Given the description of an element on the screen output the (x, y) to click on. 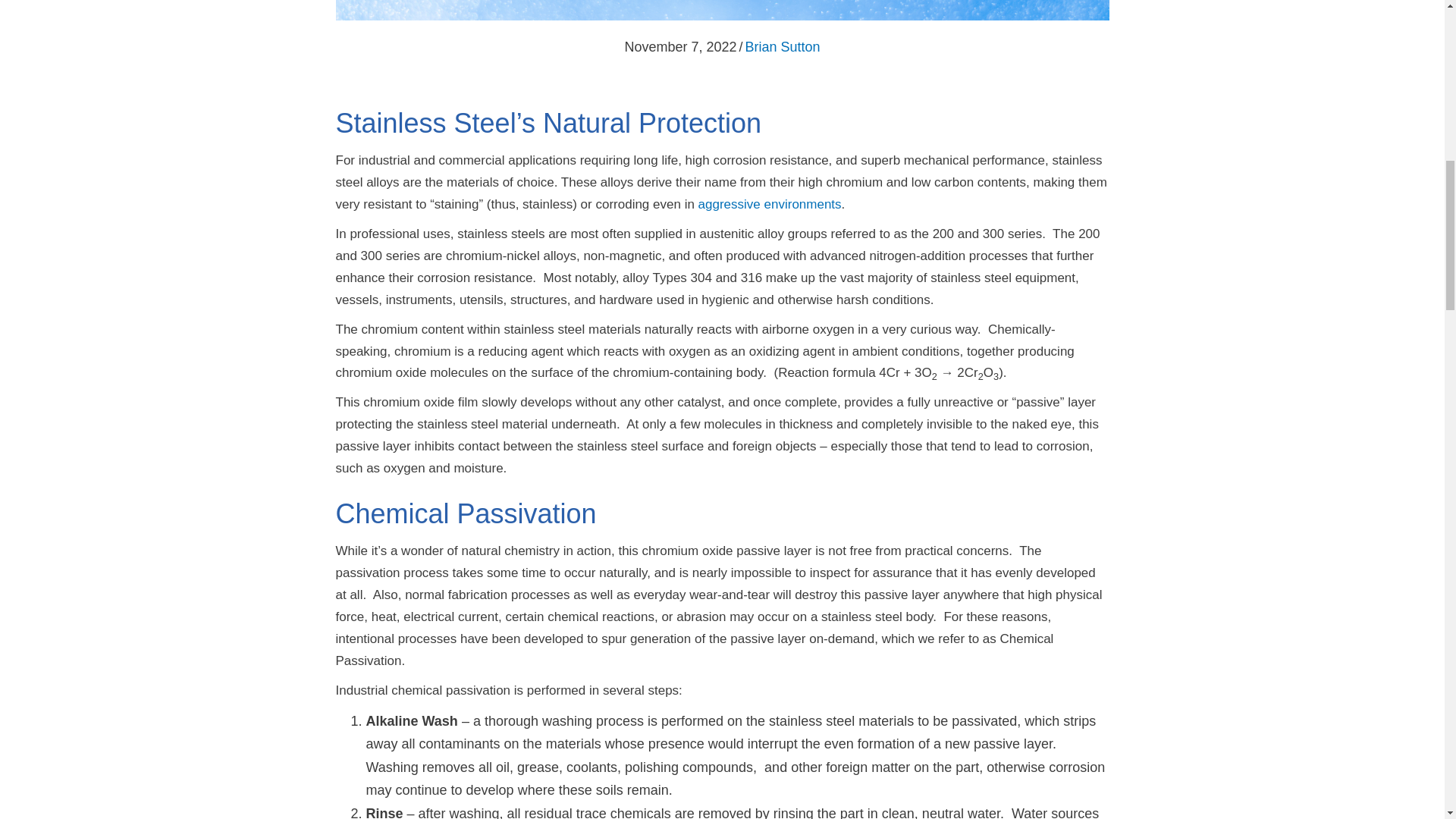
aggressive environments (767, 204)
Brian Sutton (783, 46)
